Given the description of an element on the screen output the (x, y) to click on. 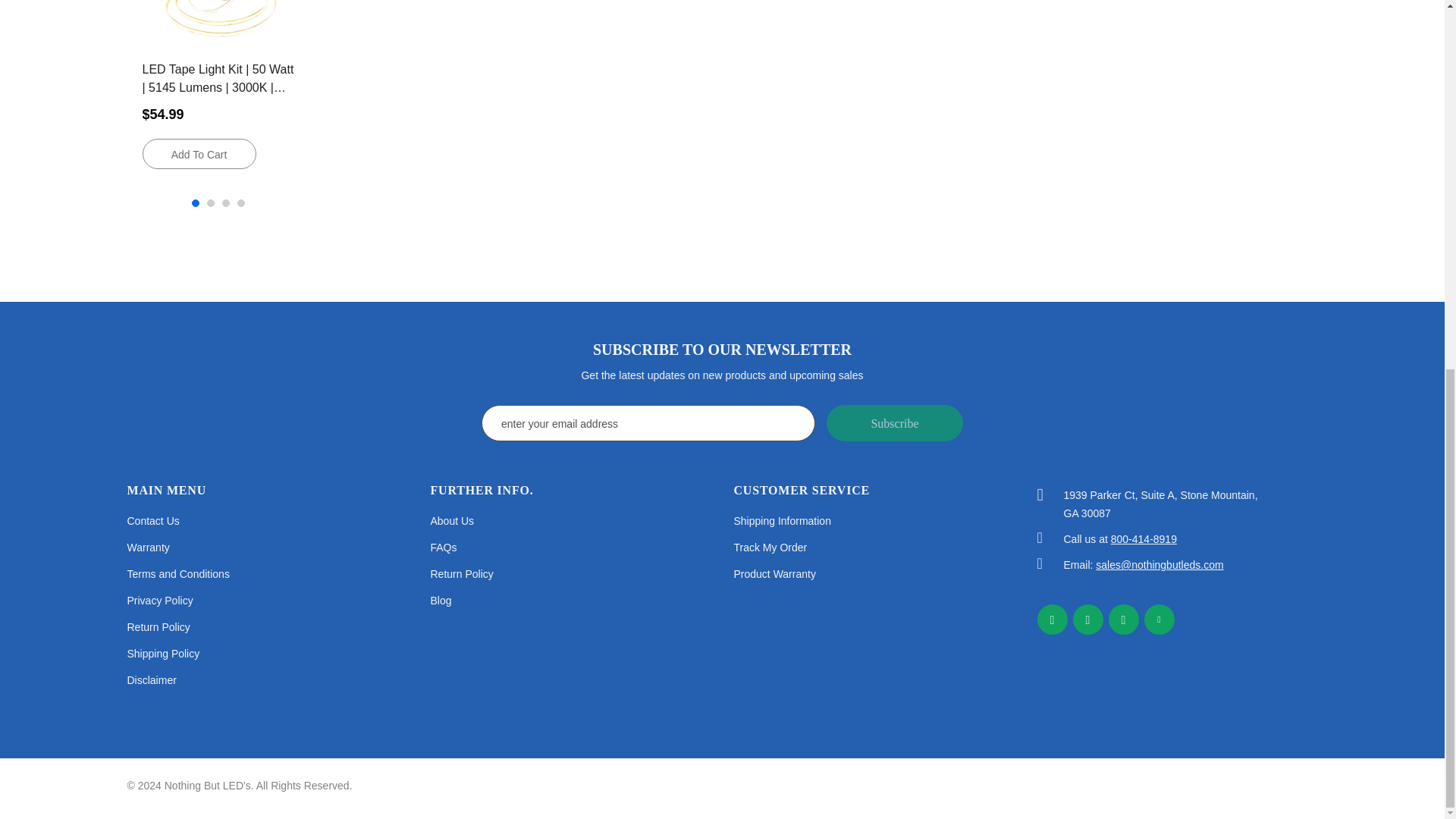
Subscribe (894, 422)
